Given the description of an element on the screen output the (x, y) to click on. 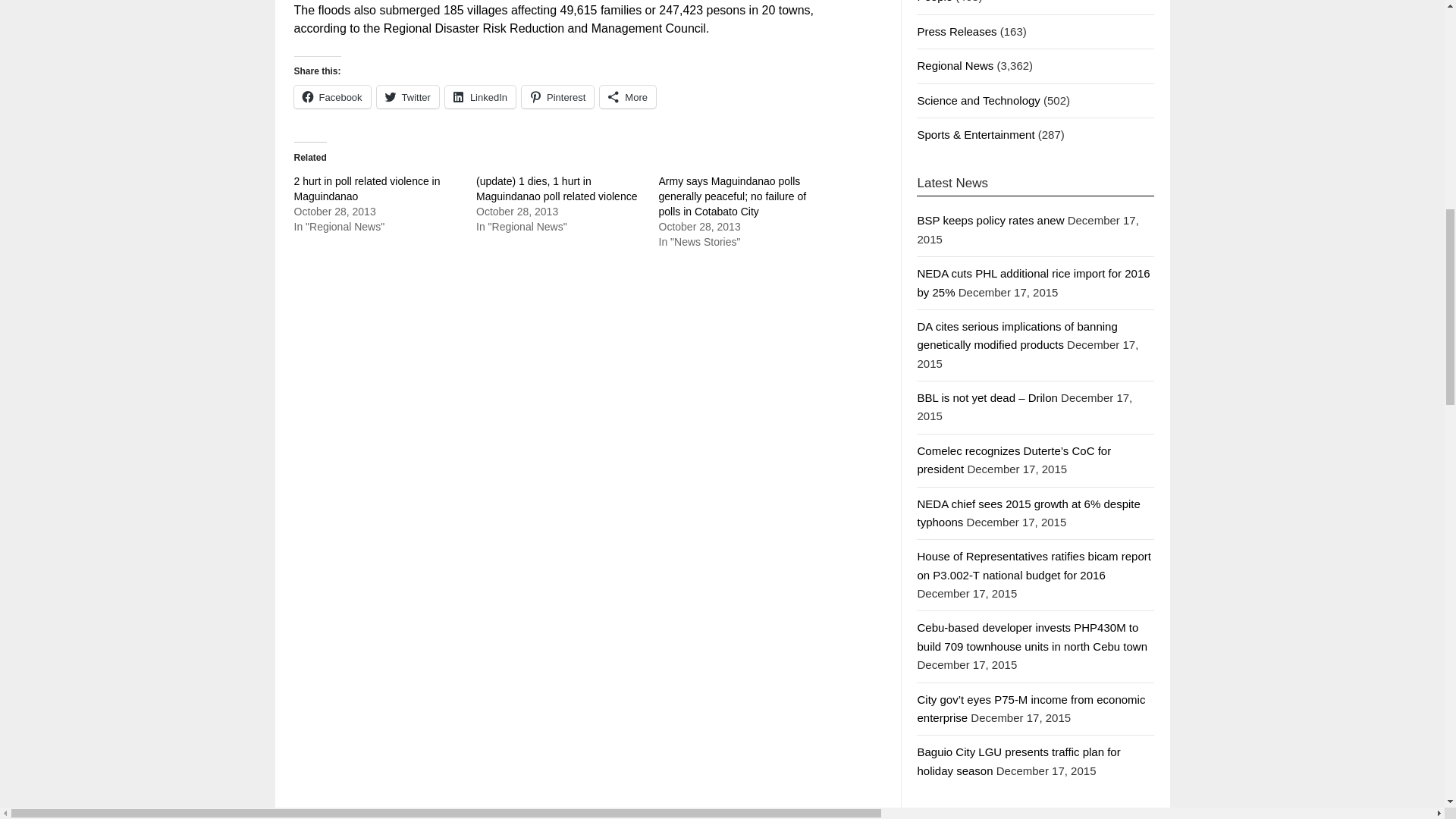
More (627, 96)
Facebook (332, 96)
Science and Technology (978, 100)
LinkedIn (480, 96)
Regional News (954, 65)
Twitter (408, 96)
Pinterest (557, 96)
2 hurt in poll related violence in Maguindanao (367, 188)
